Given the description of an element on the screen output the (x, y) to click on. 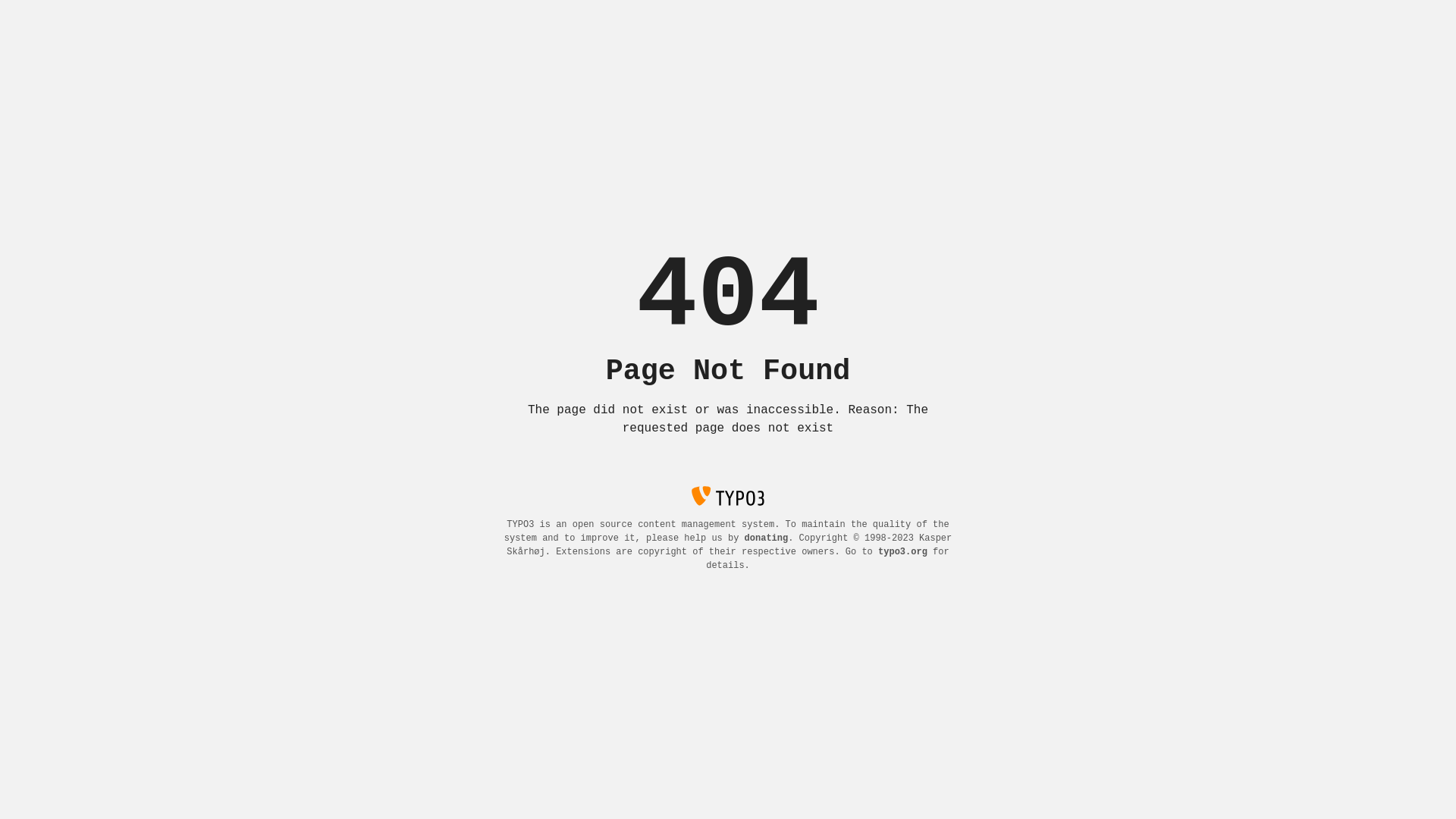
donating Element type: text (766, 538)
typo3.org Element type: text (902, 551)
